Given the description of an element on the screen output the (x, y) to click on. 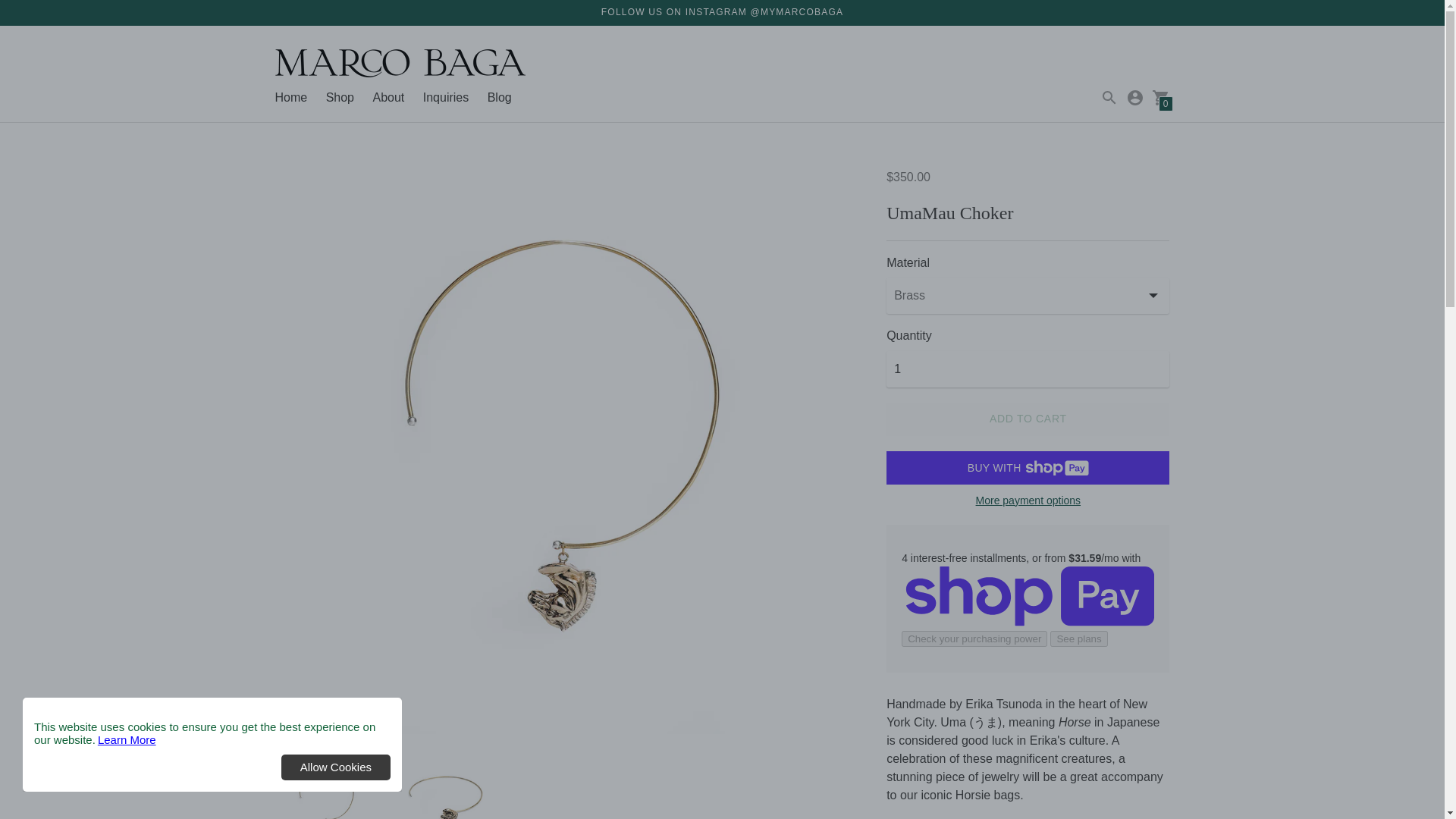
About (388, 97)
Blog (499, 97)
Home (291, 97)
1 (1027, 369)
Shop (339, 97)
Inquiries (445, 97)
